Given the description of an element on the screen output the (x, y) to click on. 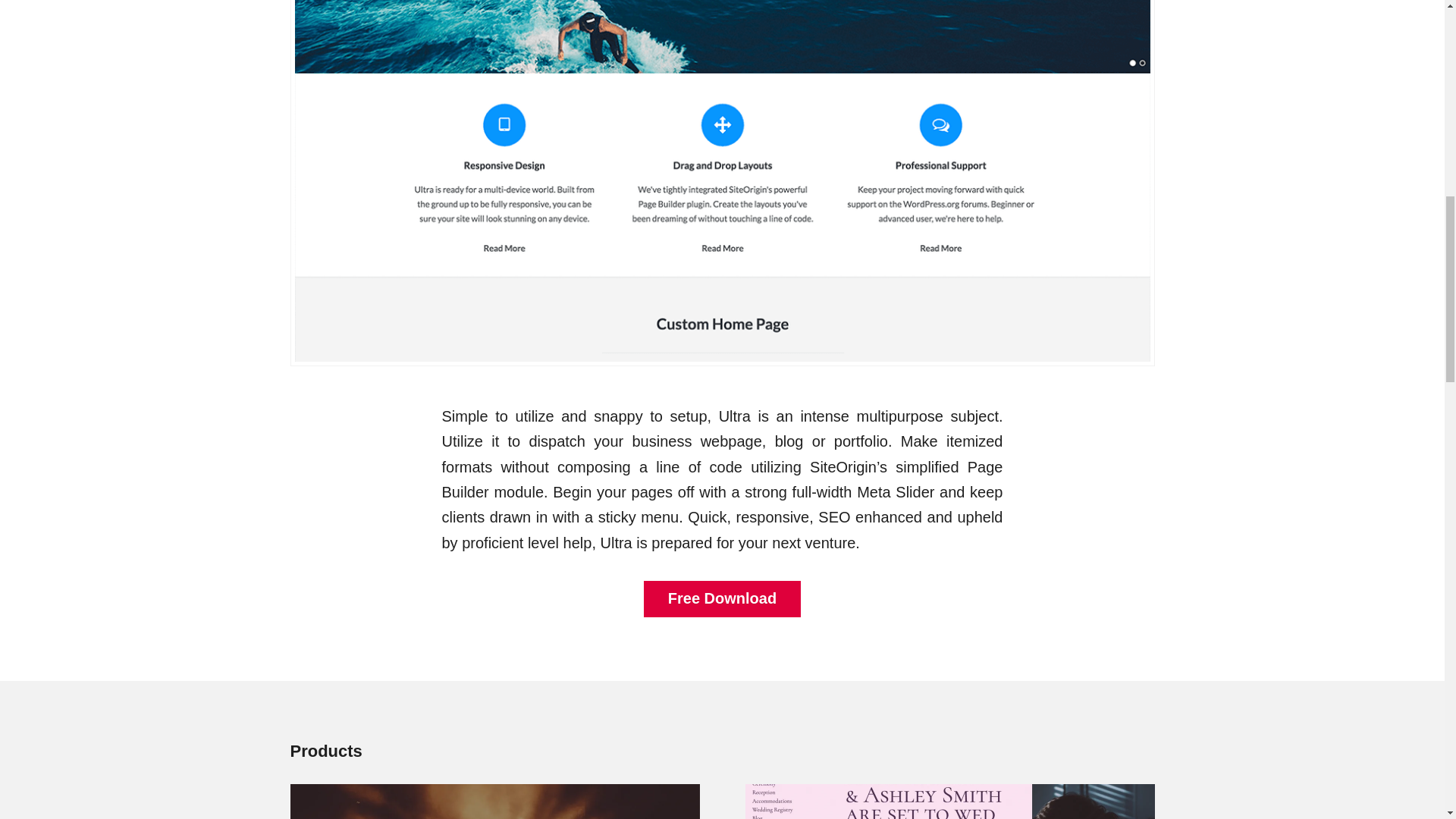
Free Download (721, 598)
Continue reading Free Blissed WordPress theme (949, 801)
Continue reading Free Marsh Music WordPress theme (493, 801)
